Given the description of an element on the screen output the (x, y) to click on. 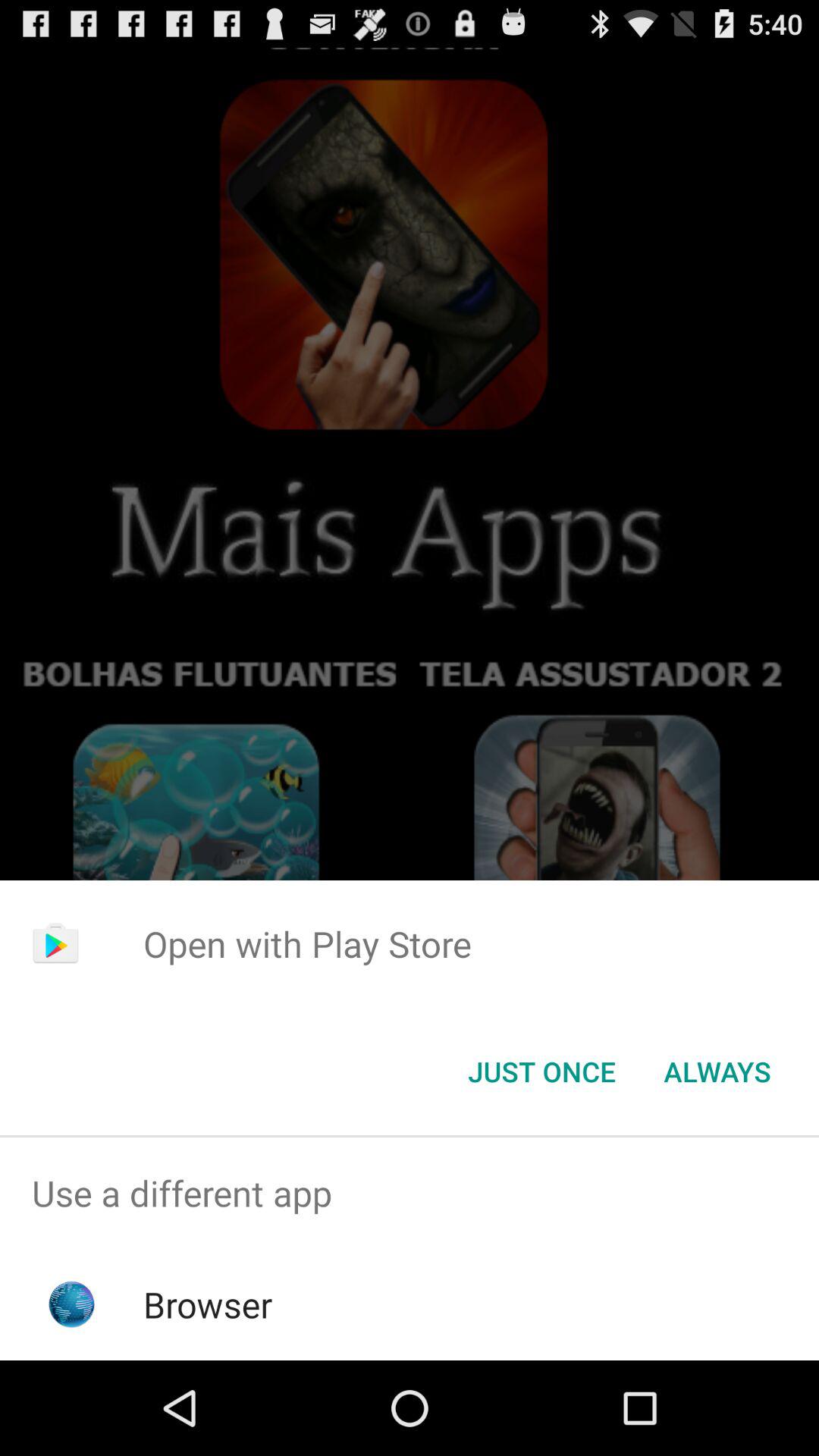
press browser icon (207, 1304)
